Given the description of an element on the screen output the (x, y) to click on. 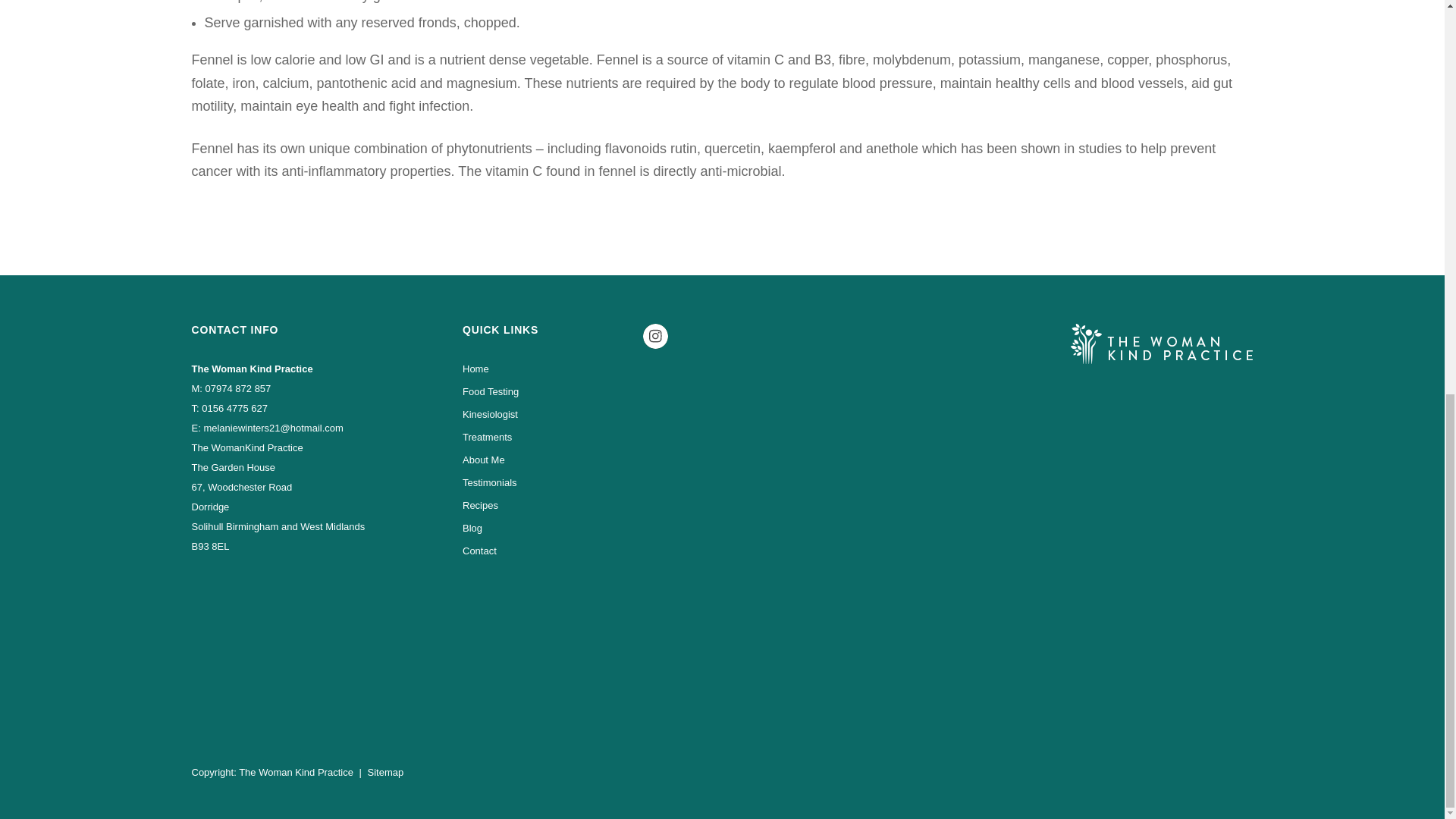
Blog (541, 528)
0156 4775 627 (234, 408)
About Me (541, 460)
07974 872 857 (237, 388)
Kinesiologist (541, 414)
Home (541, 369)
Treatments (541, 437)
Recipes (541, 505)
Sitemap (386, 772)
Testimonials (541, 483)
